Given the description of an element on the screen output the (x, y) to click on. 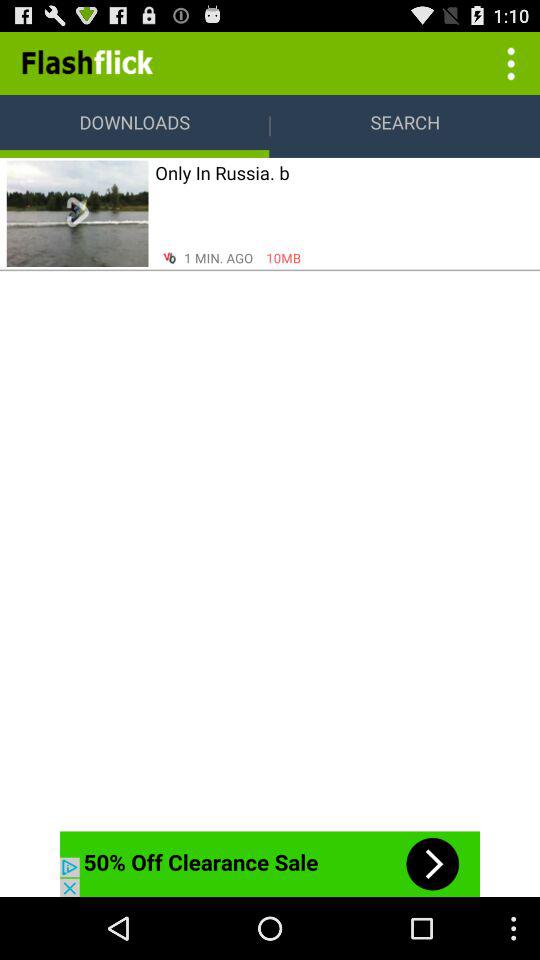
menu button (508, 62)
